Given the description of an element on the screen output the (x, y) to click on. 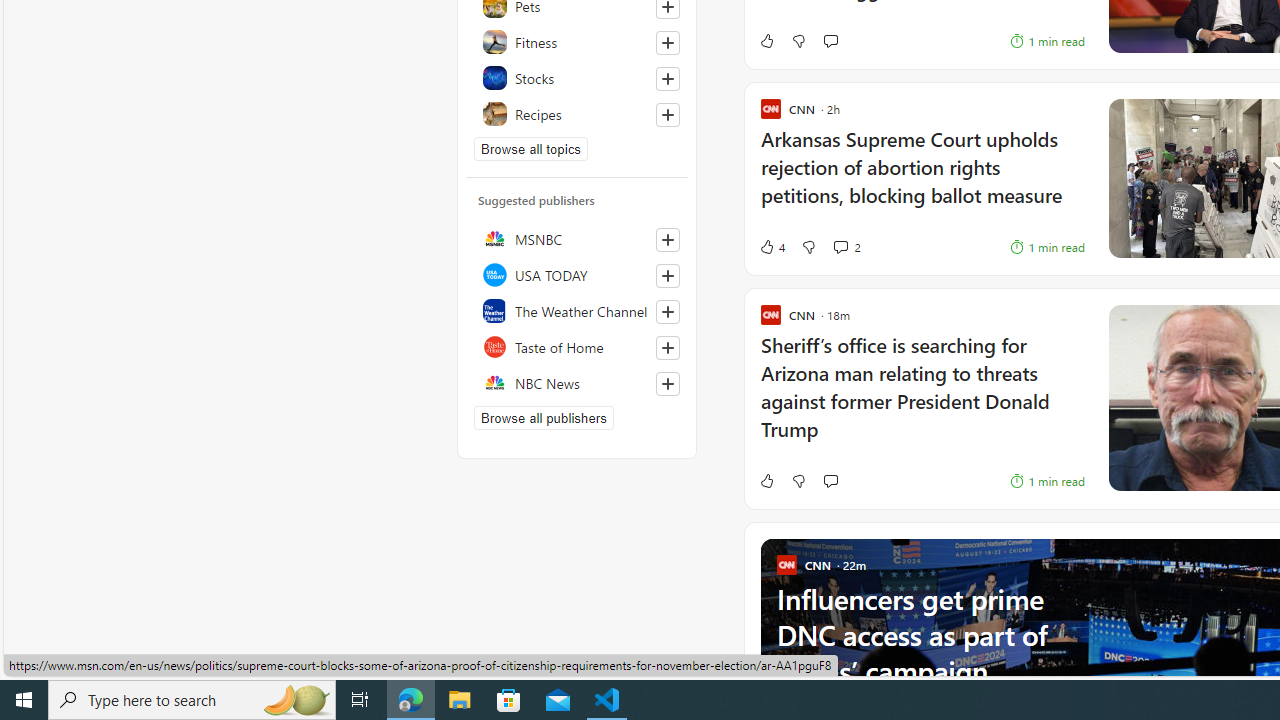
4 Like (771, 246)
Follow this source (667, 384)
MSNBC (577, 238)
Follow this topic (667, 114)
Follow this topic (667, 114)
Fitness (577, 42)
